Given the description of an element on the screen output the (x, y) to click on. 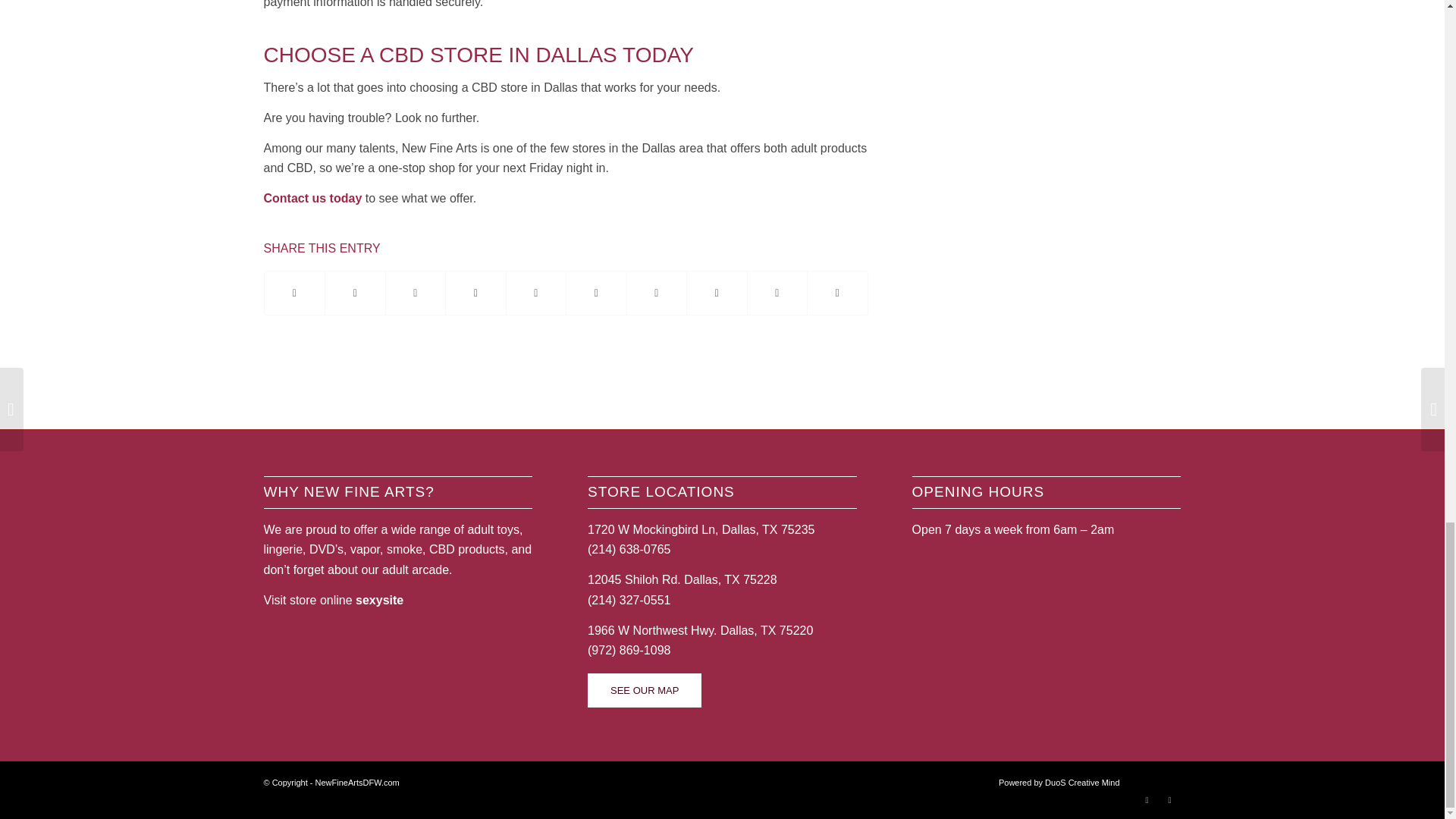
A full service marketing and SEO Company. (1058, 782)
Facebook (1146, 799)
sexysite (379, 599)
Instagram (1169, 799)
Contact us today (312, 197)
